Given the description of an element on the screen output the (x, y) to click on. 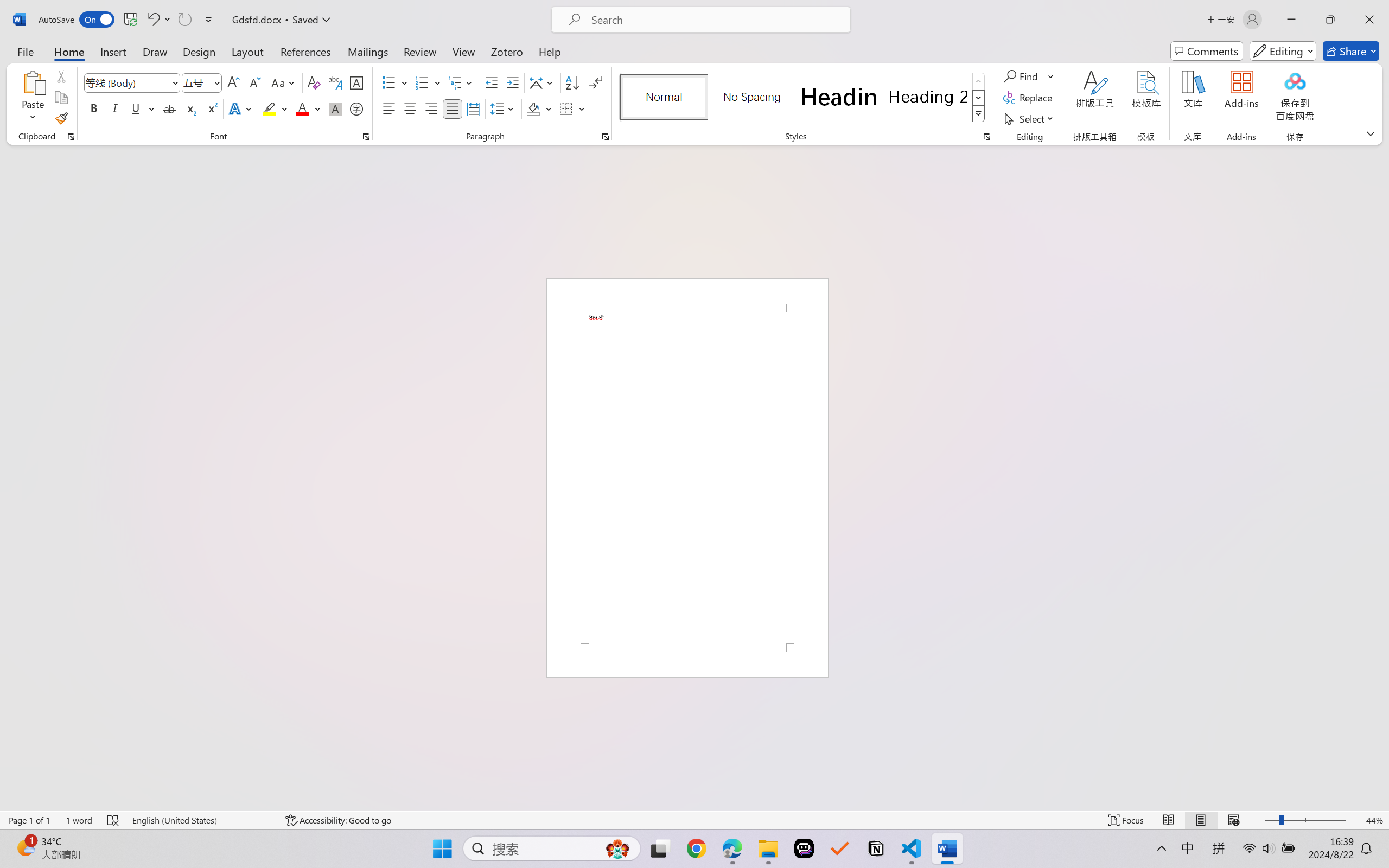
Class: NetUIScrollBar (1382, 477)
